Given the description of an element on the screen output the (x, y) to click on. 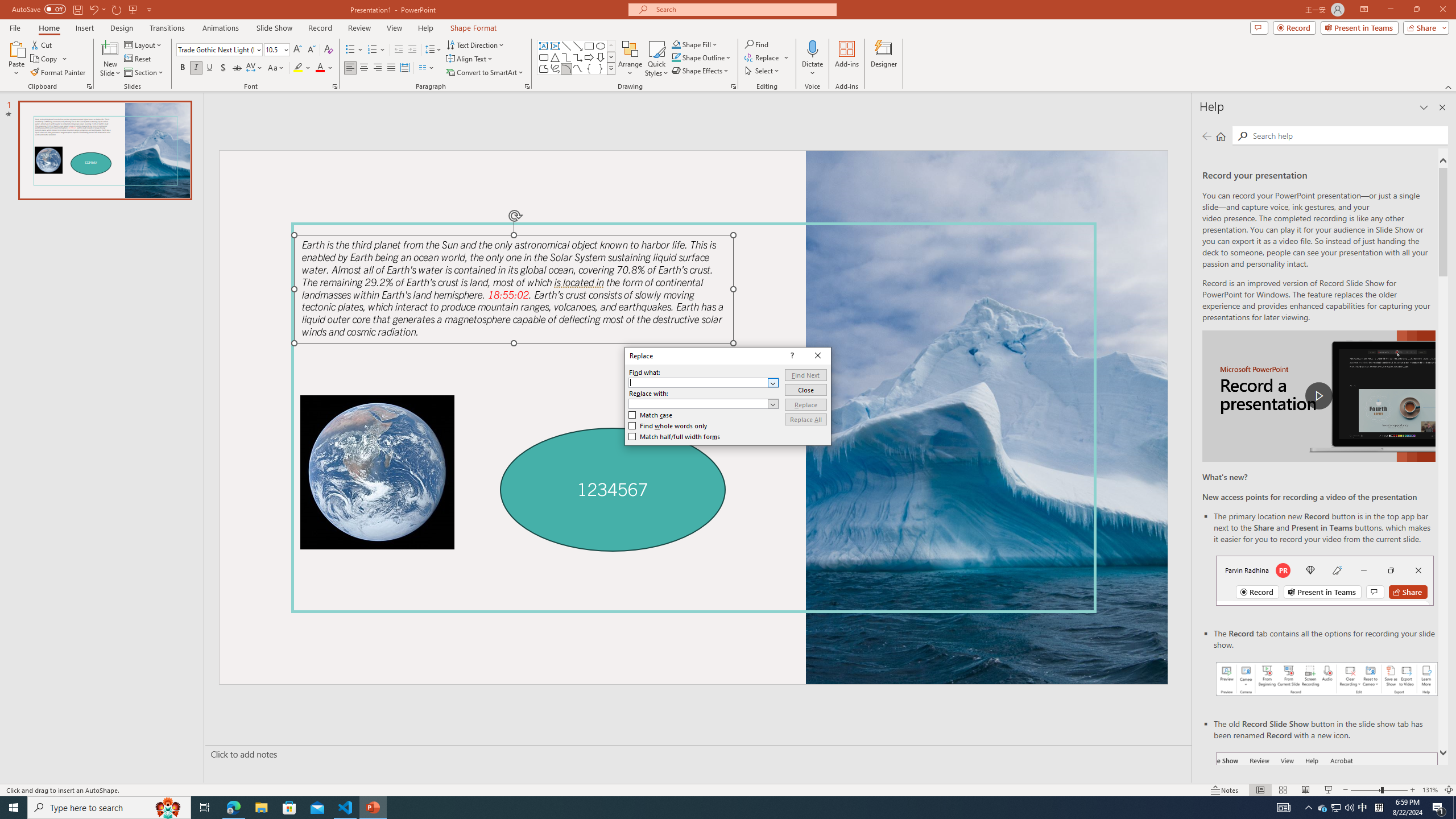
Replace (805, 404)
Connector: Elbow Arrow (577, 57)
Bold (182, 67)
Justify (1362, 807)
Show desktop (390, 67)
Reset (1454, 807)
Shape Format (138, 58)
Notification Chevron (473, 28)
Tray Input Indicator - Chinese (Simplified, China) (1308, 807)
Line Spacing (1378, 807)
Find... (433, 49)
Text Direction (756, 44)
Text Box (476, 44)
